Given the description of an element on the screen output the (x, y) to click on. 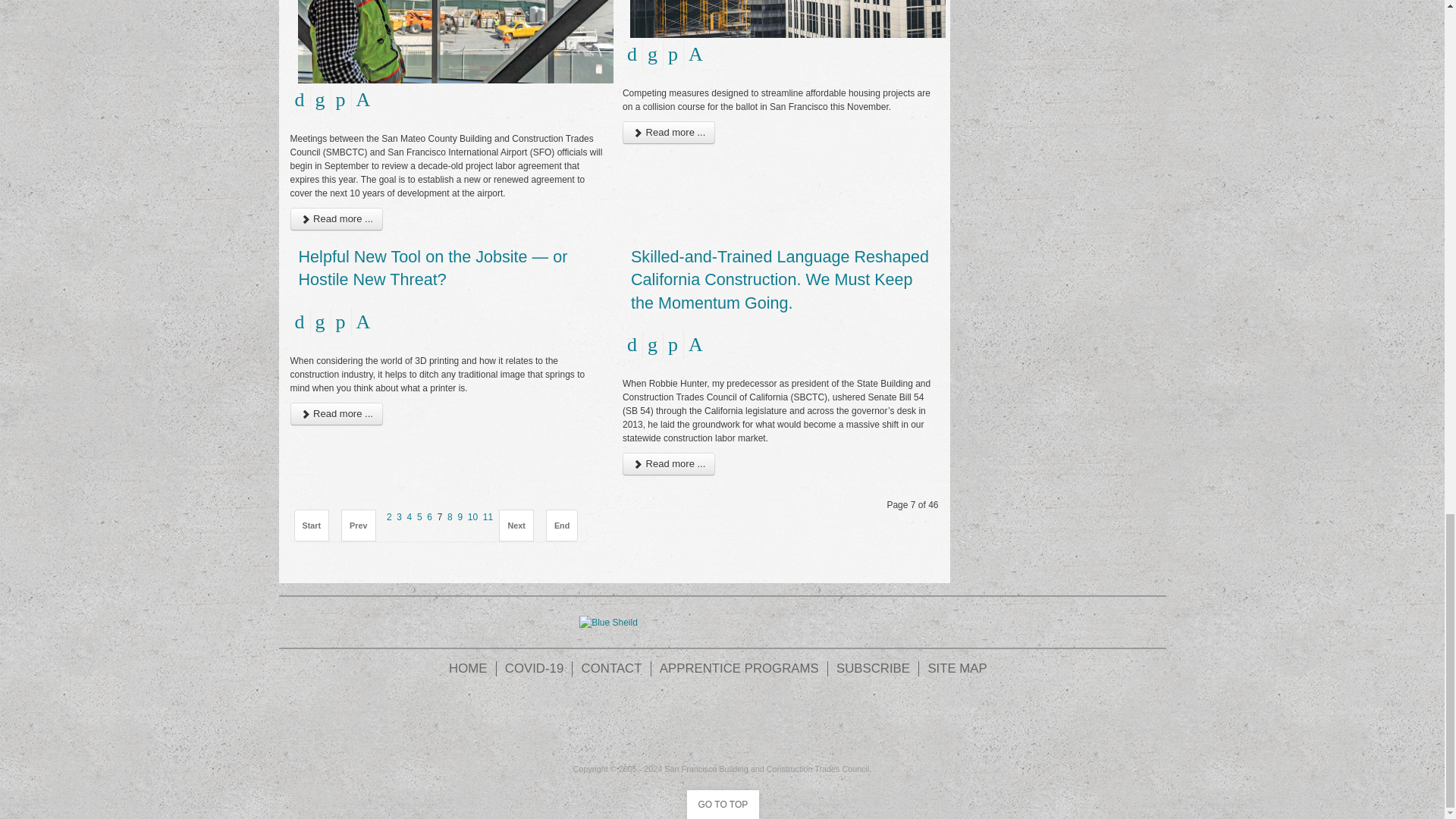
Start (312, 525)
10 (472, 516)
BLUE SHEILD FOOTER BANNER 3 (608, 621)
Prev (357, 525)
11 (488, 516)
Next (515, 525)
Facebook (638, 721)
End (562, 525)
